Given the description of an element on the screen output the (x, y) to click on. 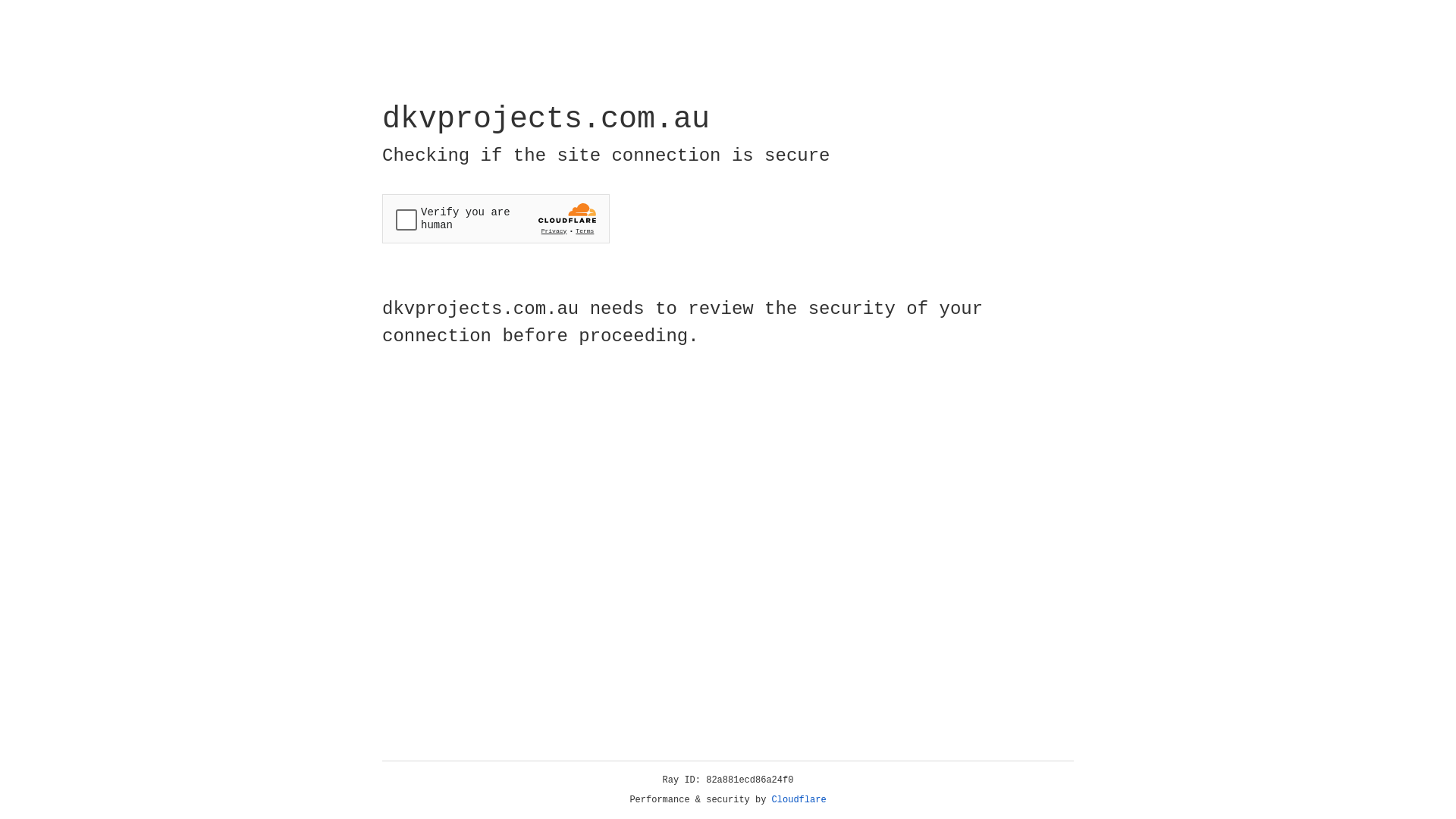
Widget containing a Cloudflare security challenge Element type: hover (495, 218)
Cloudflare Element type: text (798, 799)
